Given the description of an element on the screen output the (x, y) to click on. 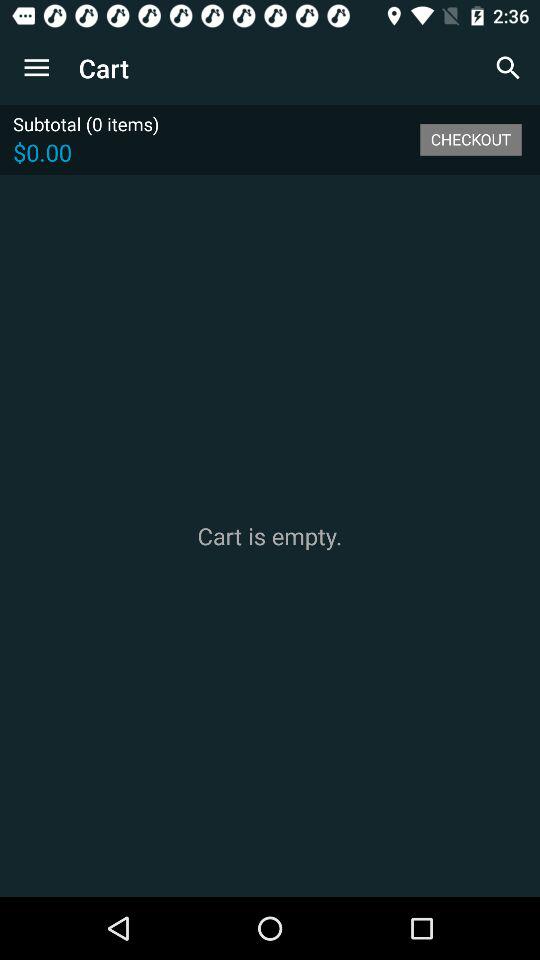
jump until checkout icon (470, 139)
